Given the description of an element on the screen output the (x, y) to click on. 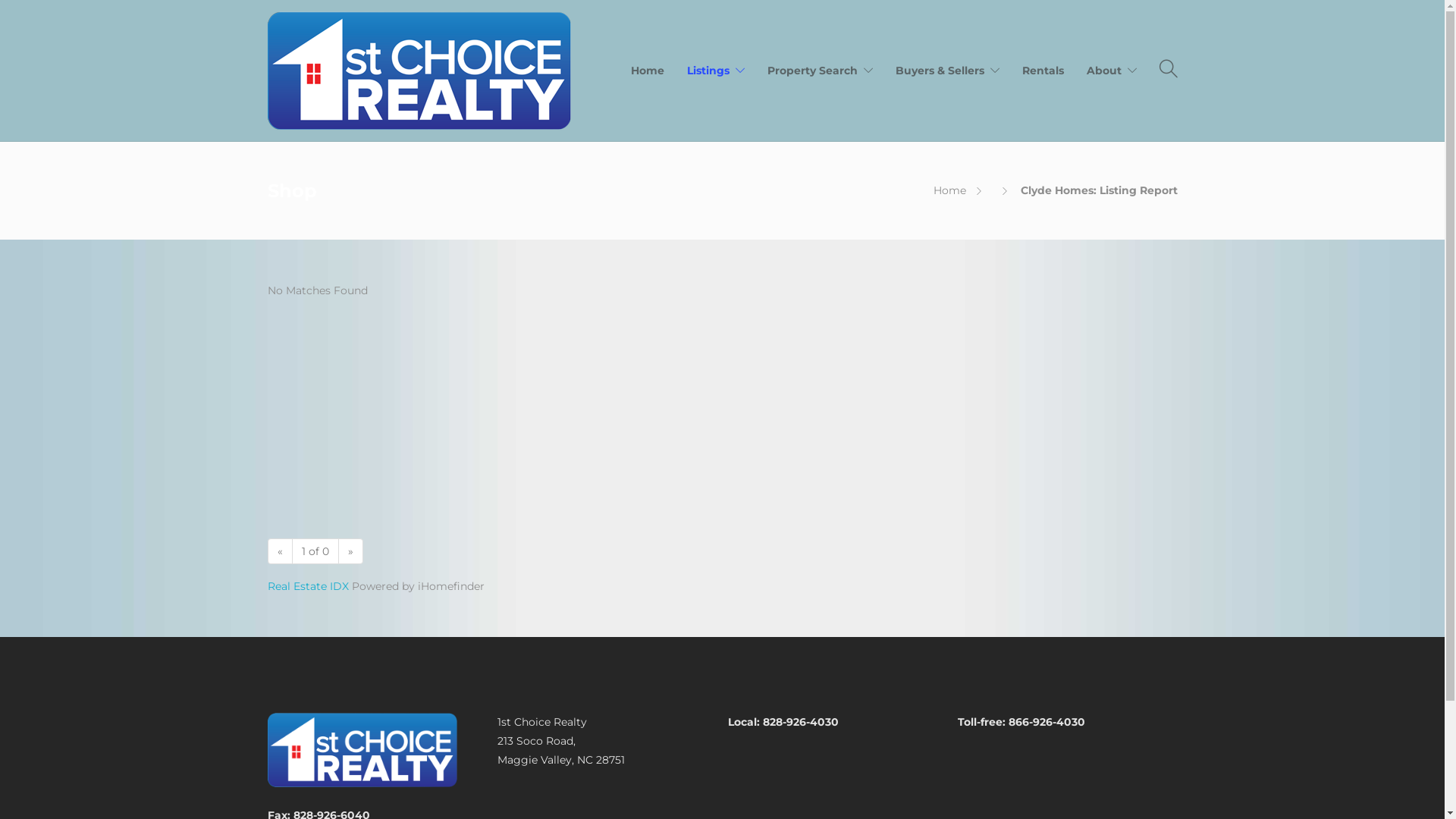
About Element type: text (1110, 70)
Rentals Element type: text (1042, 70)
Home Element type: text (647, 70)
Buyers & Sellers Element type: text (946, 70)
Real Estate IDX Element type: text (307, 586)
Home Element type: text (948, 190)
Property Search Element type: text (819, 70)
Listings Element type: text (715, 70)
1 of 0 Element type: text (314, 551)
